Given the description of an element on the screen output the (x, y) to click on. 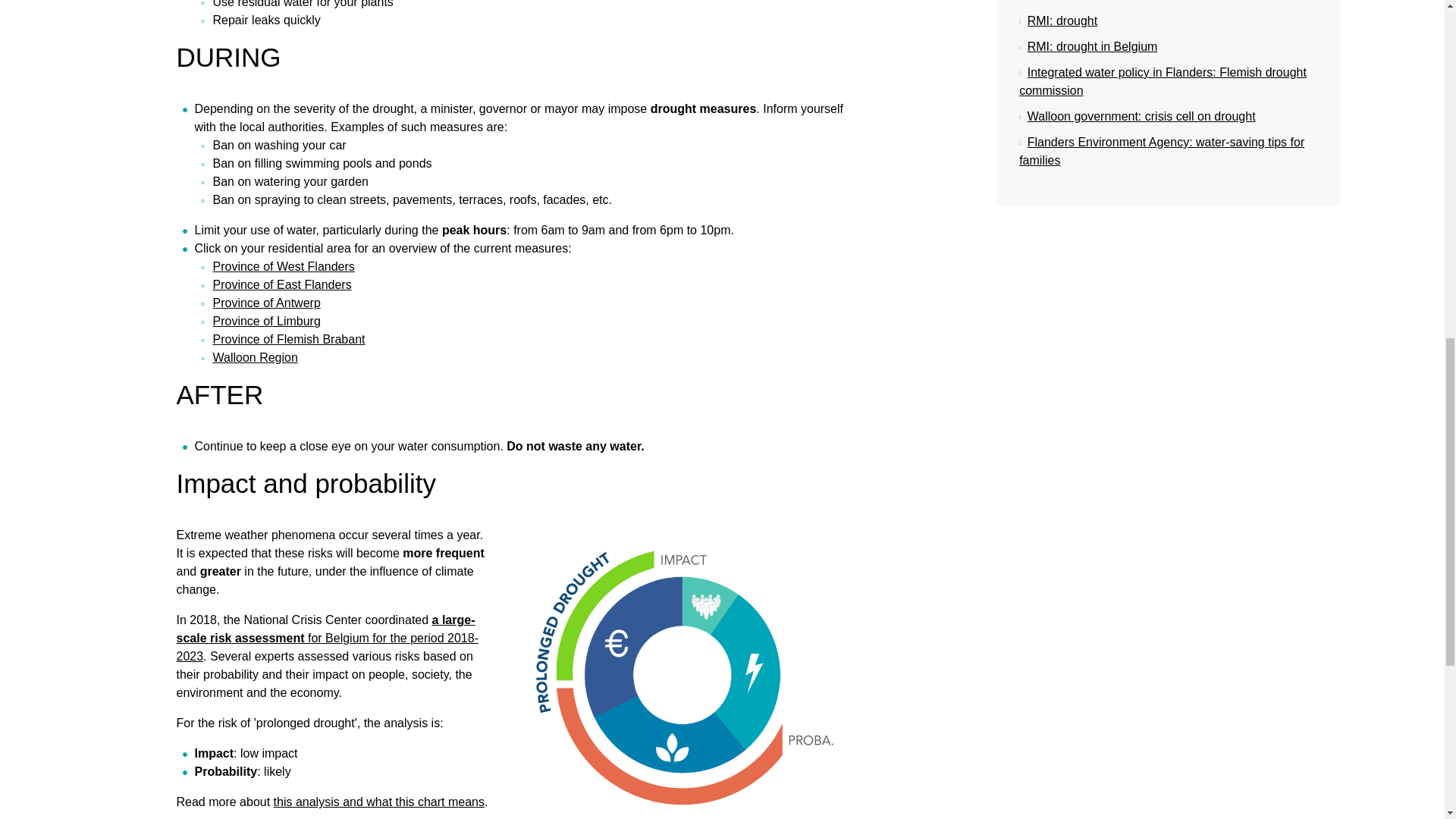
Province of Flemish Brabant (288, 338)
Province of West Flanders (282, 266)
this analysis and what this chart means (378, 801)
RMI: drought in Belgium (1088, 46)
Province of Antwerp (266, 302)
Walloon Region (254, 357)
Province of East Flanders (281, 284)
Province of Limburg (266, 320)
RMI: drought (1058, 20)
